Given the description of an element on the screen output the (x, y) to click on. 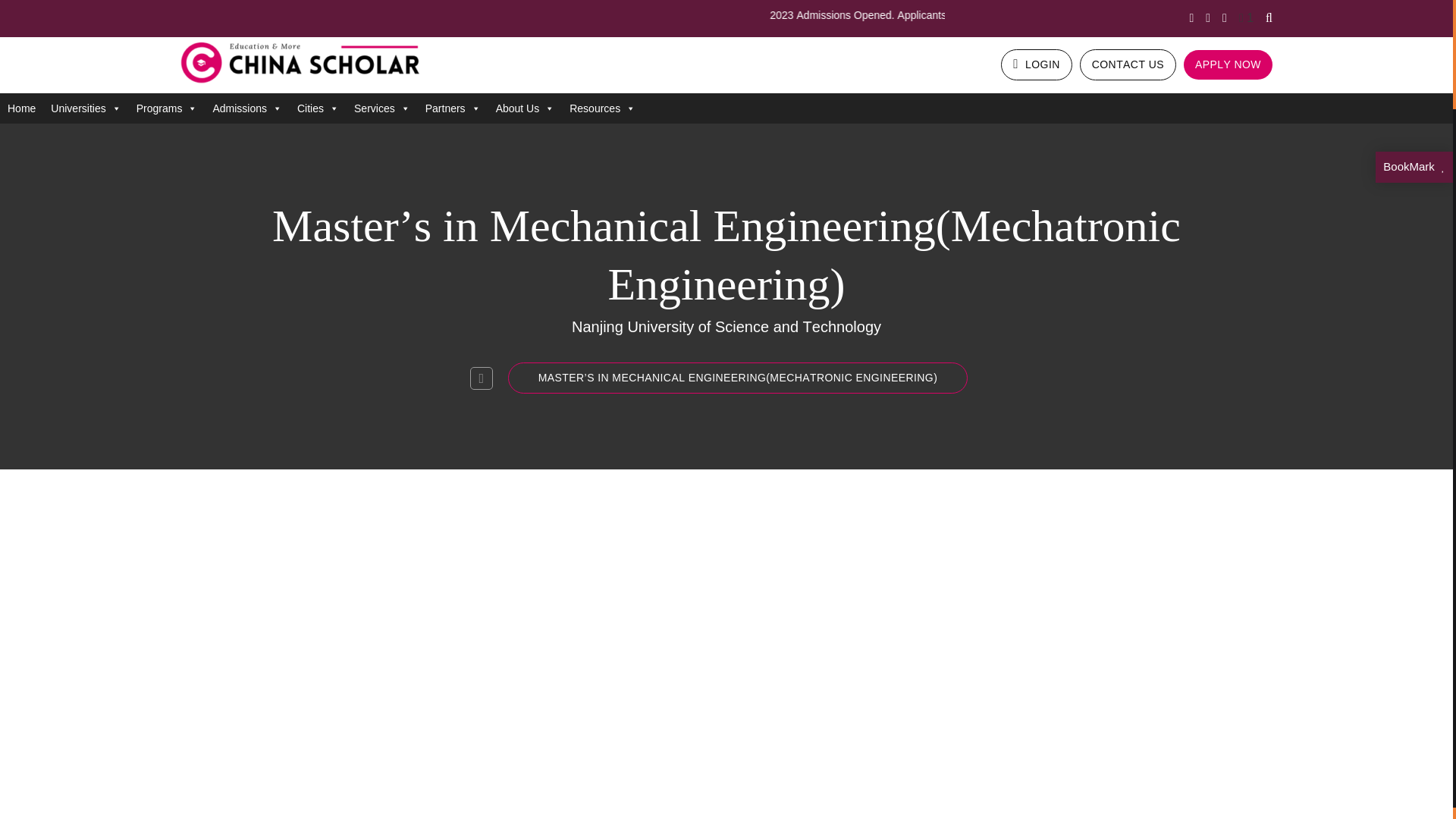
CONTACT US (1128, 64)
APPLY NOW (1227, 64)
Programs (167, 108)
Home (21, 108)
Announcement (1246, 17)
BookMark (1414, 165)
Universities (85, 108)
LOGIN (1036, 64)
1 (1246, 17)
Admissions (247, 108)
